Given the description of an element on the screen output the (x, y) to click on. 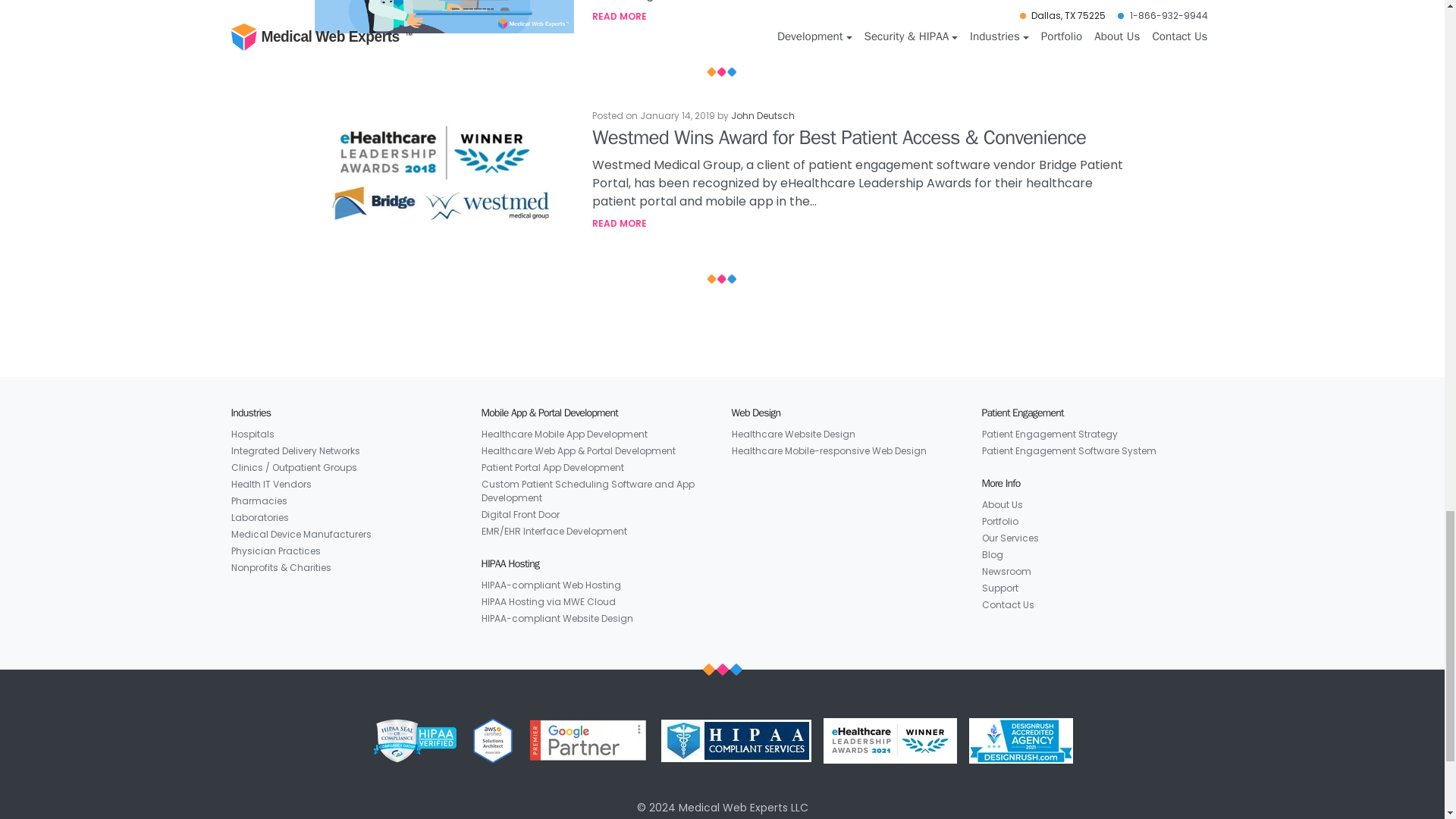
Laboratories (259, 517)
Patient Portal App Development (551, 467)
Integrated Delivery Networks (294, 451)
Medical Device Manufacturers (300, 534)
Pharmacies (258, 501)
READ MORE (860, 223)
Custom Patient Scheduling Software and App Development (596, 490)
Health IT Vendors (270, 484)
Healthcare Mobile App Development (563, 434)
John Deutsch (762, 115)
READ MORE (860, 16)
Physician Practices (275, 550)
Hospitals (251, 434)
